Given the description of an element on the screen output the (x, y) to click on. 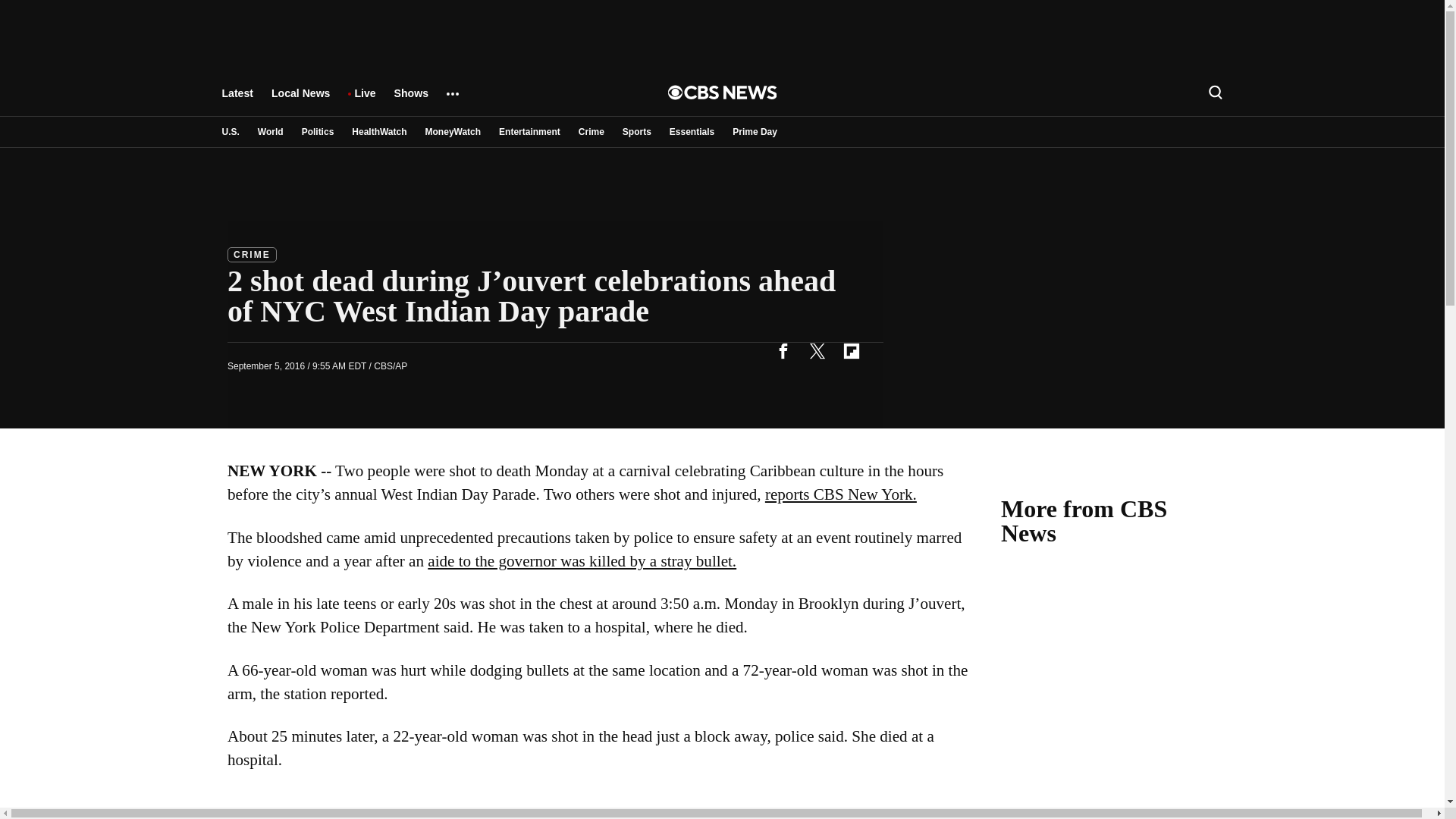
Latest (236, 100)
facebook (782, 350)
flipboard (850, 350)
twitter (816, 350)
Local News (300, 100)
